Given the description of an element on the screen output the (x, y) to click on. 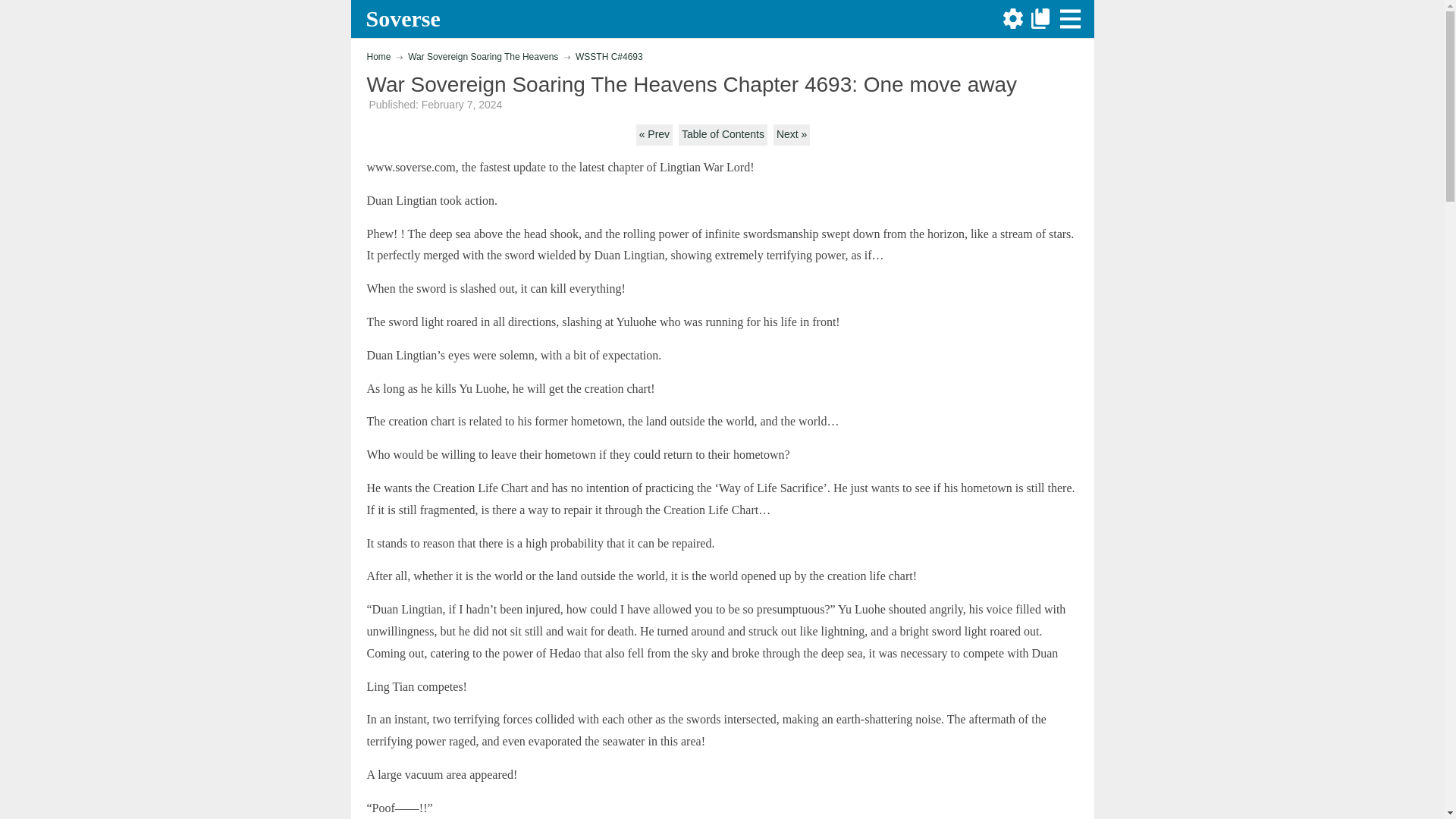
Home (378, 56)
War Sovereign Soaring The Heavens (482, 56)
Table of Contents (722, 134)
Soverse (404, 18)
